Given the description of an element on the screen output the (x, y) to click on. 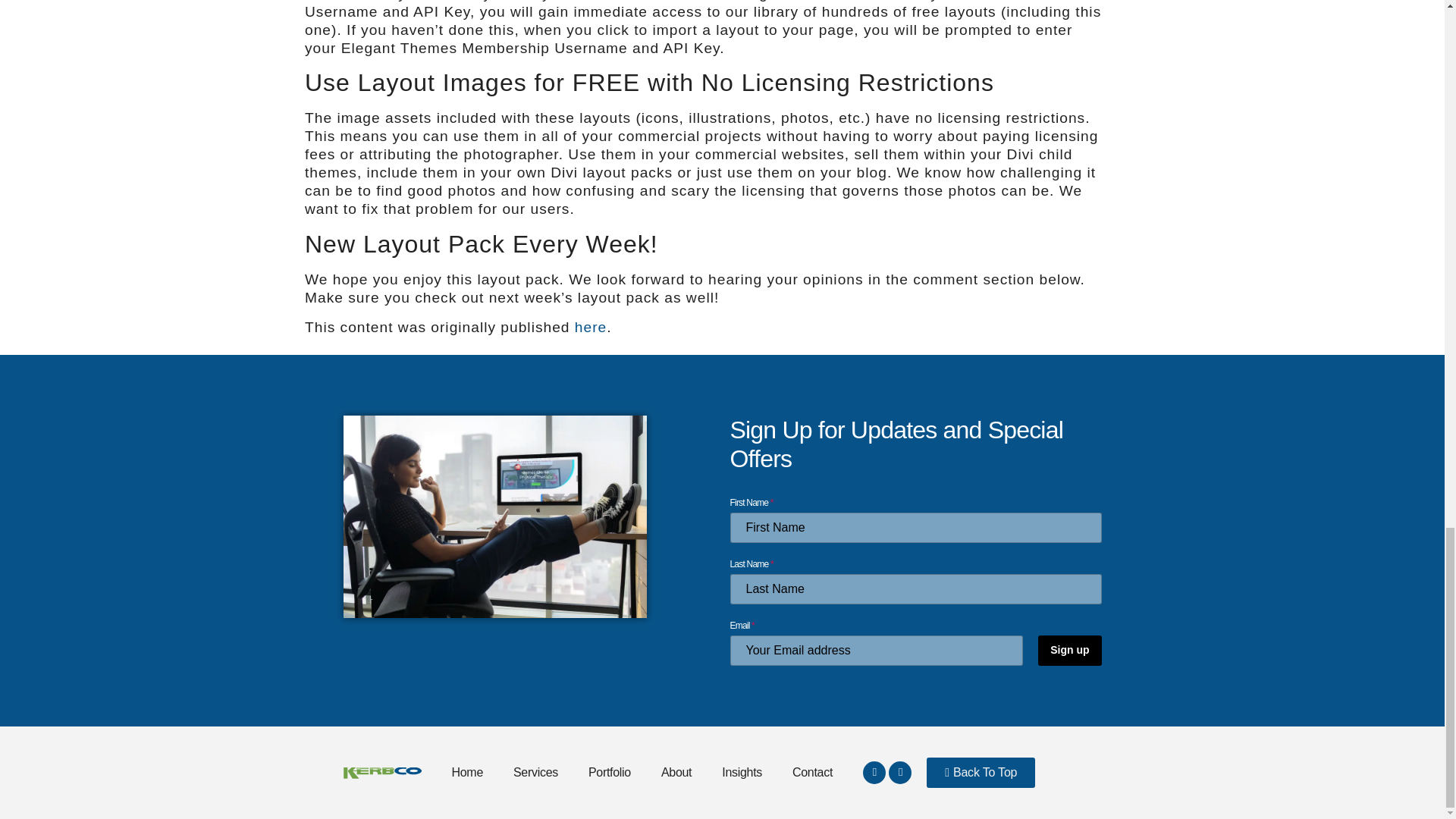
Sign up (1069, 650)
Portfolio (609, 772)
About (676, 772)
Home (466, 772)
Back To Top (980, 772)
Services (535, 772)
members area (629, 0)
Insights (741, 772)
Contact (812, 772)
here (591, 326)
